Given the description of an element on the screen output the (x, y) to click on. 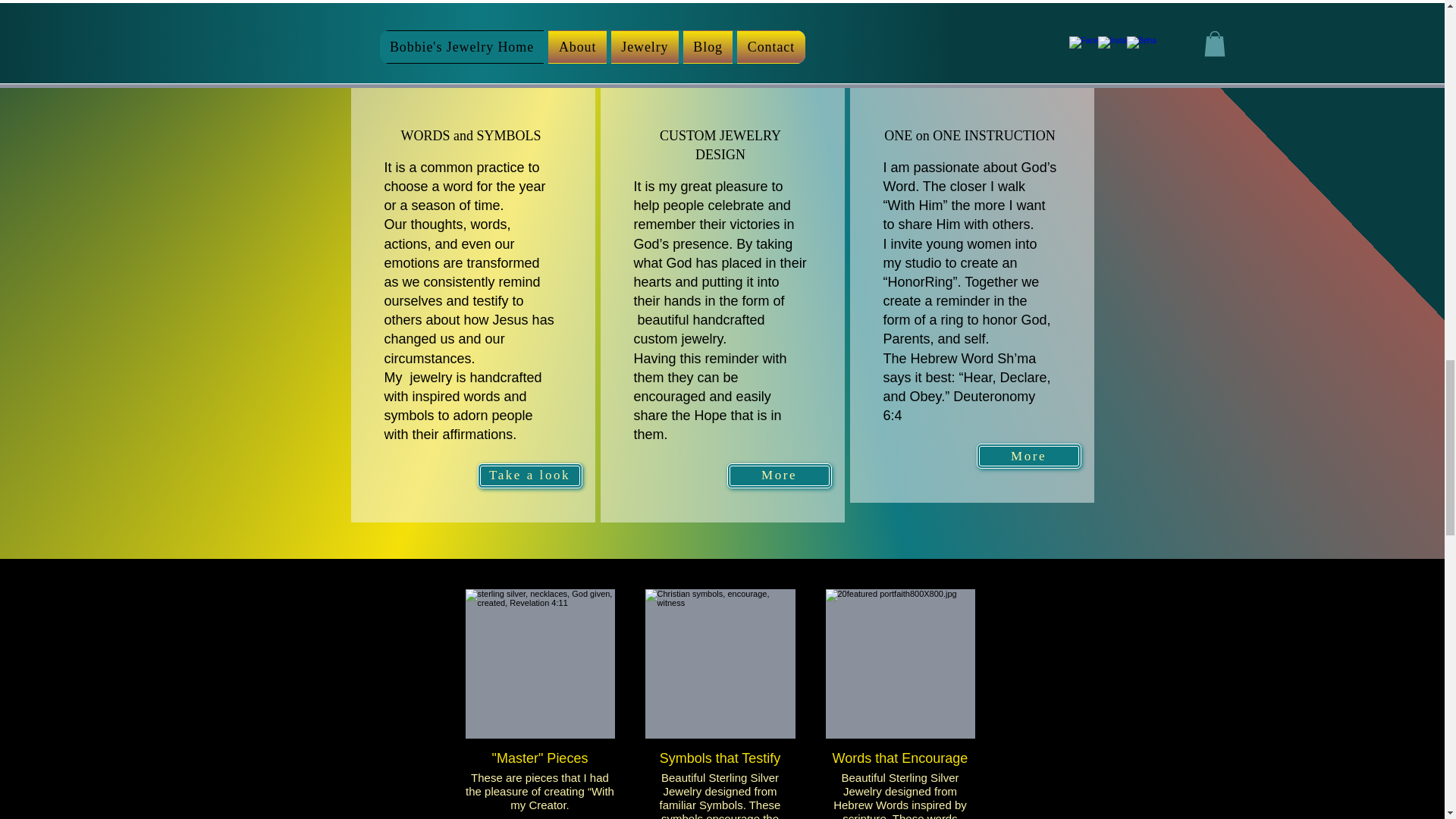
More (1028, 455)
More (778, 475)
Take a look (529, 475)
